Given the description of an element on the screen output the (x, y) to click on. 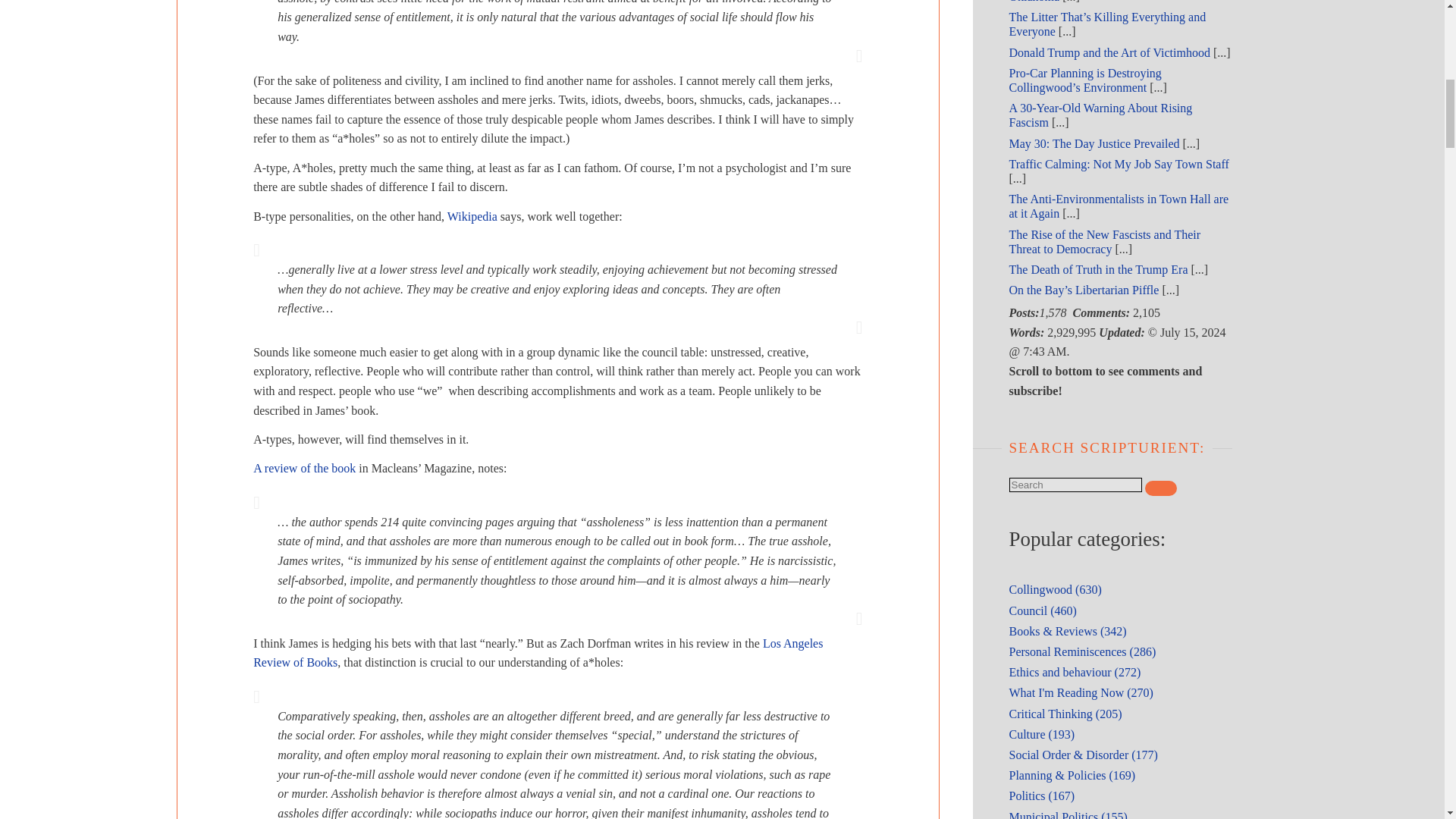
A 30-Year-Old Warning About Rising Fascism (1100, 114)
Donald Trump and the Art of Victimhood (1109, 51)
Christofascists Make Their Move in Oklahoma (1096, 1)
May 30: The Day Justice Prevailed (1094, 143)
Traffic Calming: Not My Job Say Town Staff (1118, 164)
